Given the description of an element on the screen output the (x, y) to click on. 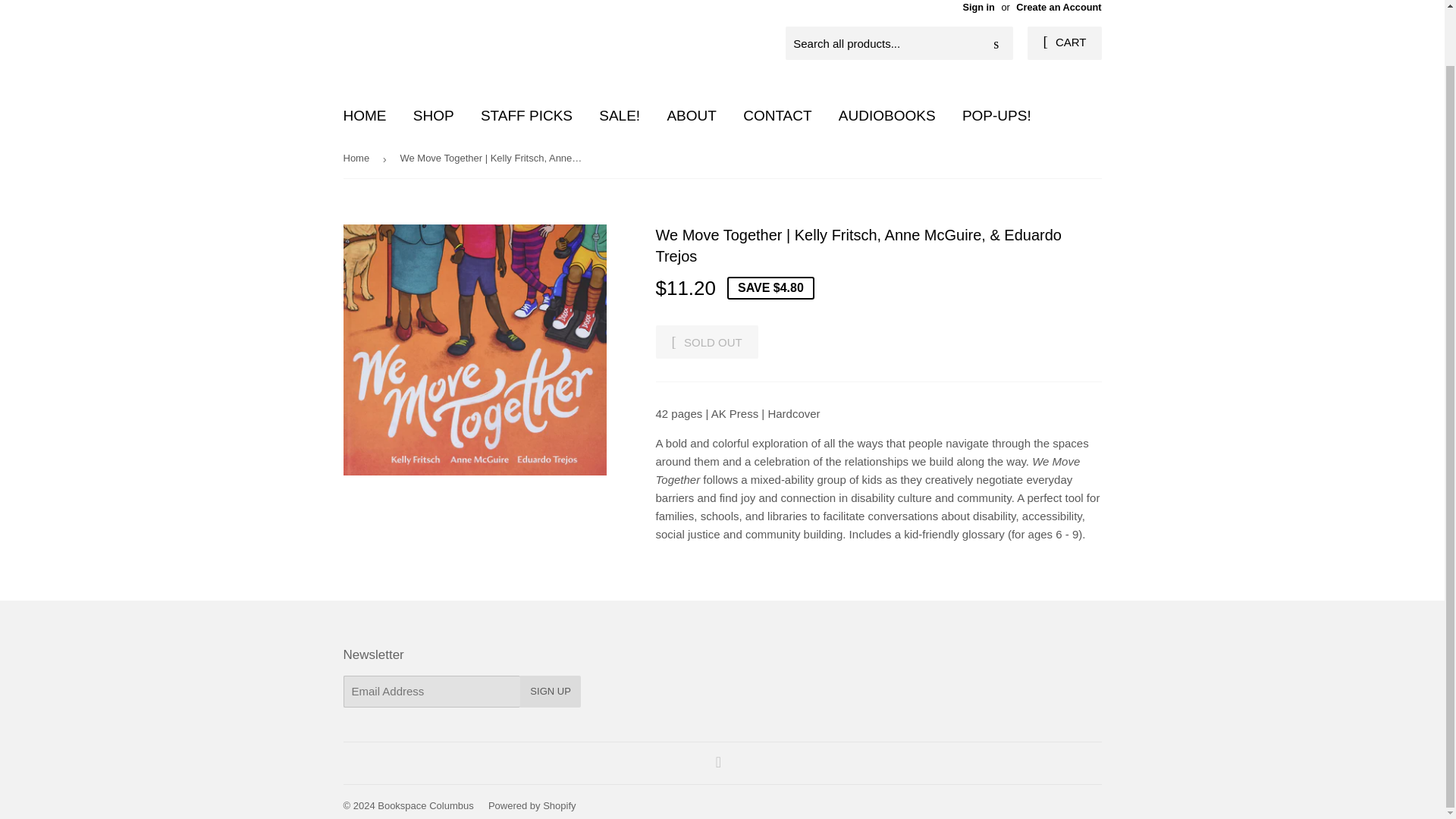
ABOUT (690, 115)
HOME (364, 115)
Search (995, 43)
AUDIOBOOKS (887, 115)
SOLD OUT (706, 341)
POP-UPS! (996, 115)
CART (1063, 42)
Create an Account (1058, 7)
STAFF PICKS (525, 115)
Bookspace Columbus (425, 805)
SIGN UP (549, 691)
CONTACT (777, 115)
SHOP (433, 115)
Sign in (978, 7)
SALE! (619, 115)
